Given the description of an element on the screen output the (x, y) to click on. 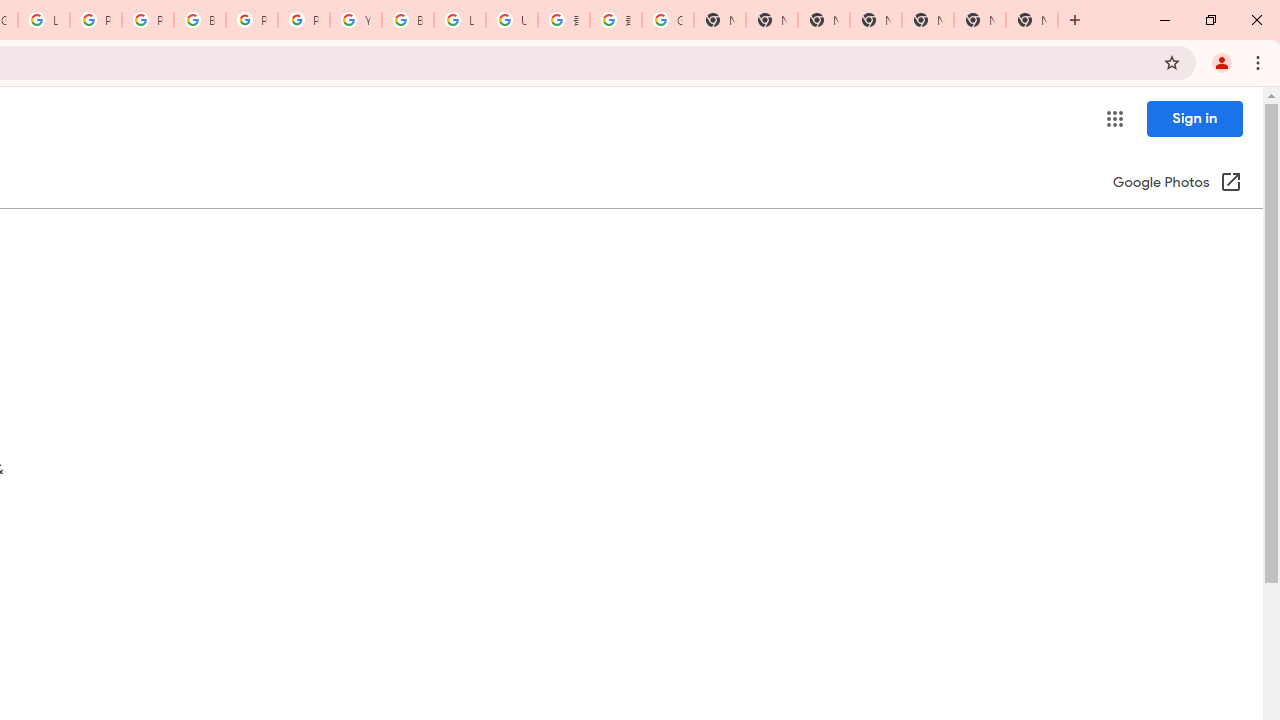
New Tab (875, 20)
New Tab (1032, 20)
Google Images (667, 20)
